Given the description of an element on the screen output the (x, y) to click on. 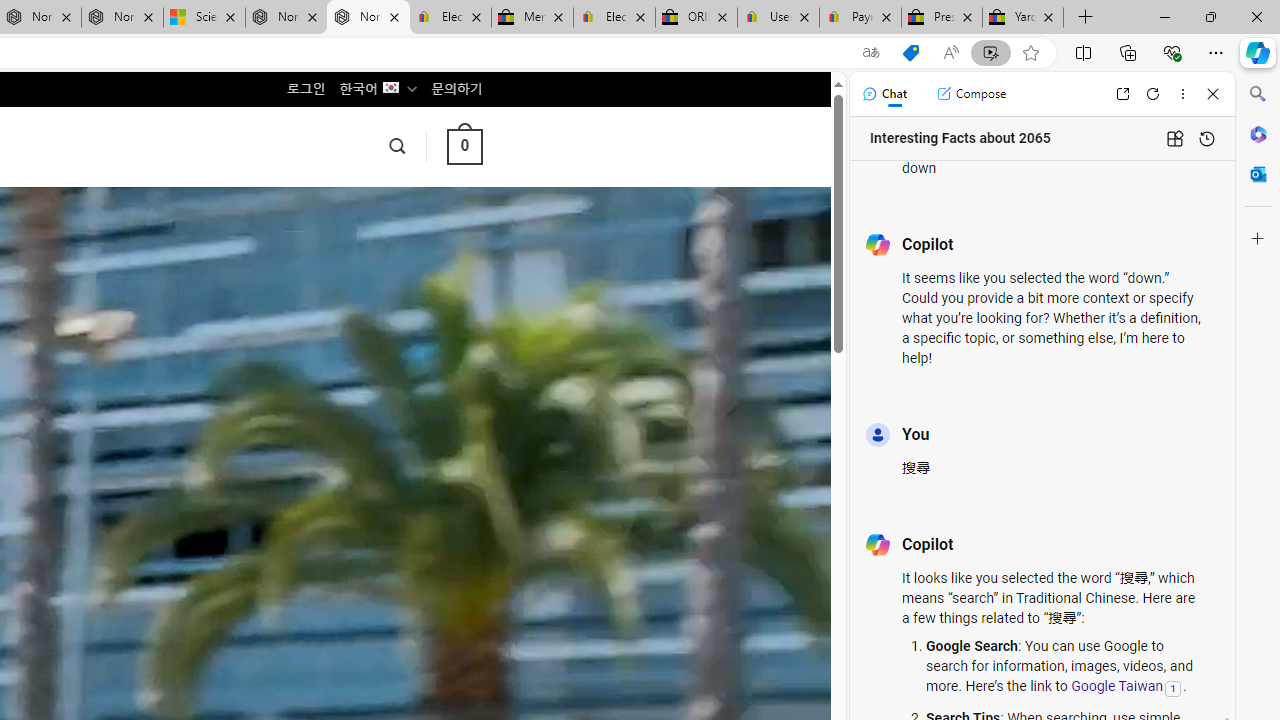
User Privacy Notice | eBay (778, 17)
Payments Terms of Use | eBay.com (860, 17)
 0  (464, 146)
Press Room - eBay Inc. (941, 17)
